Given the description of an element on the screen output the (x, y) to click on. 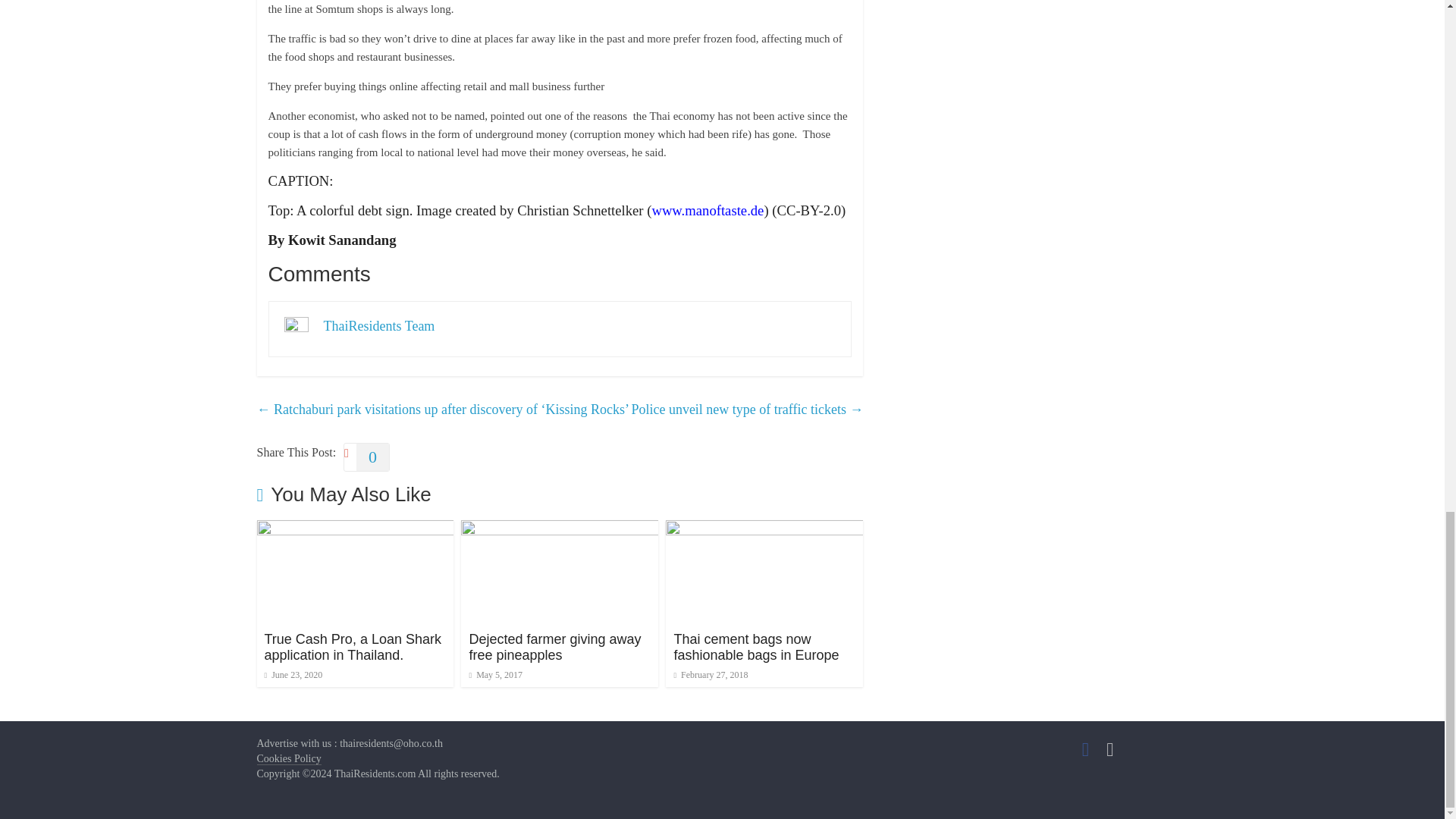
9:29 am (495, 674)
True Cash Pro, a Loan Shark application in Thailand. (352, 647)
1:29 am (292, 674)
0 (366, 456)
Dejected farmer giving away free pineapples (559, 529)
www.manoftaste.de (706, 210)
Dejected farmer giving away free pineapples (554, 647)
True Cash Pro, a Loan Shark application in Thailand. (352, 647)
True Cash Pro, a Loan Shark application in Thailand. (354, 529)
ThaiResidents Team (378, 325)
